Given the description of an element on the screen output the (x, y) to click on. 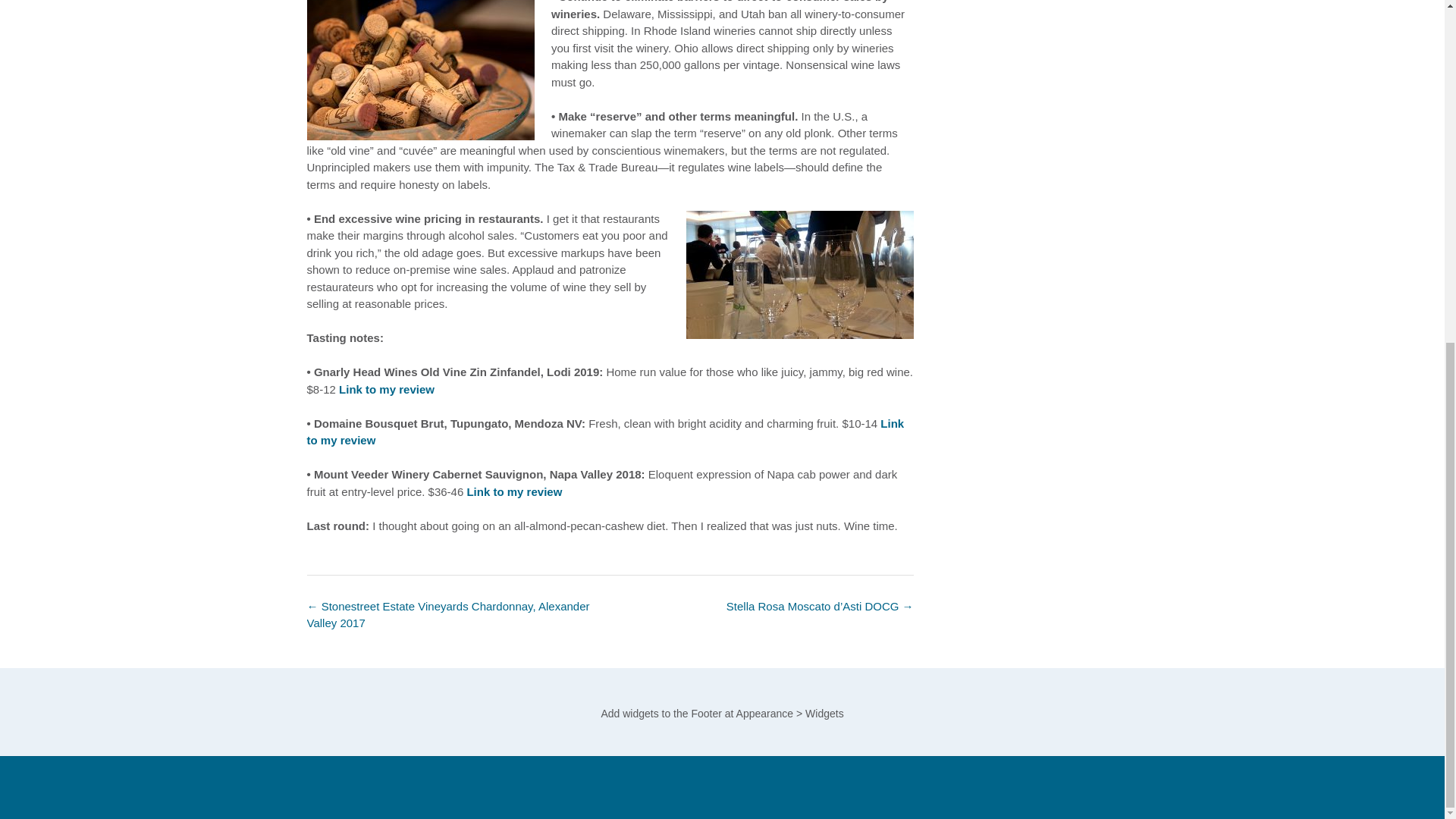
Link to my review (604, 431)
Link to my review (513, 491)
Link to my review (386, 389)
